Given the description of an element on the screen output the (x, y) to click on. 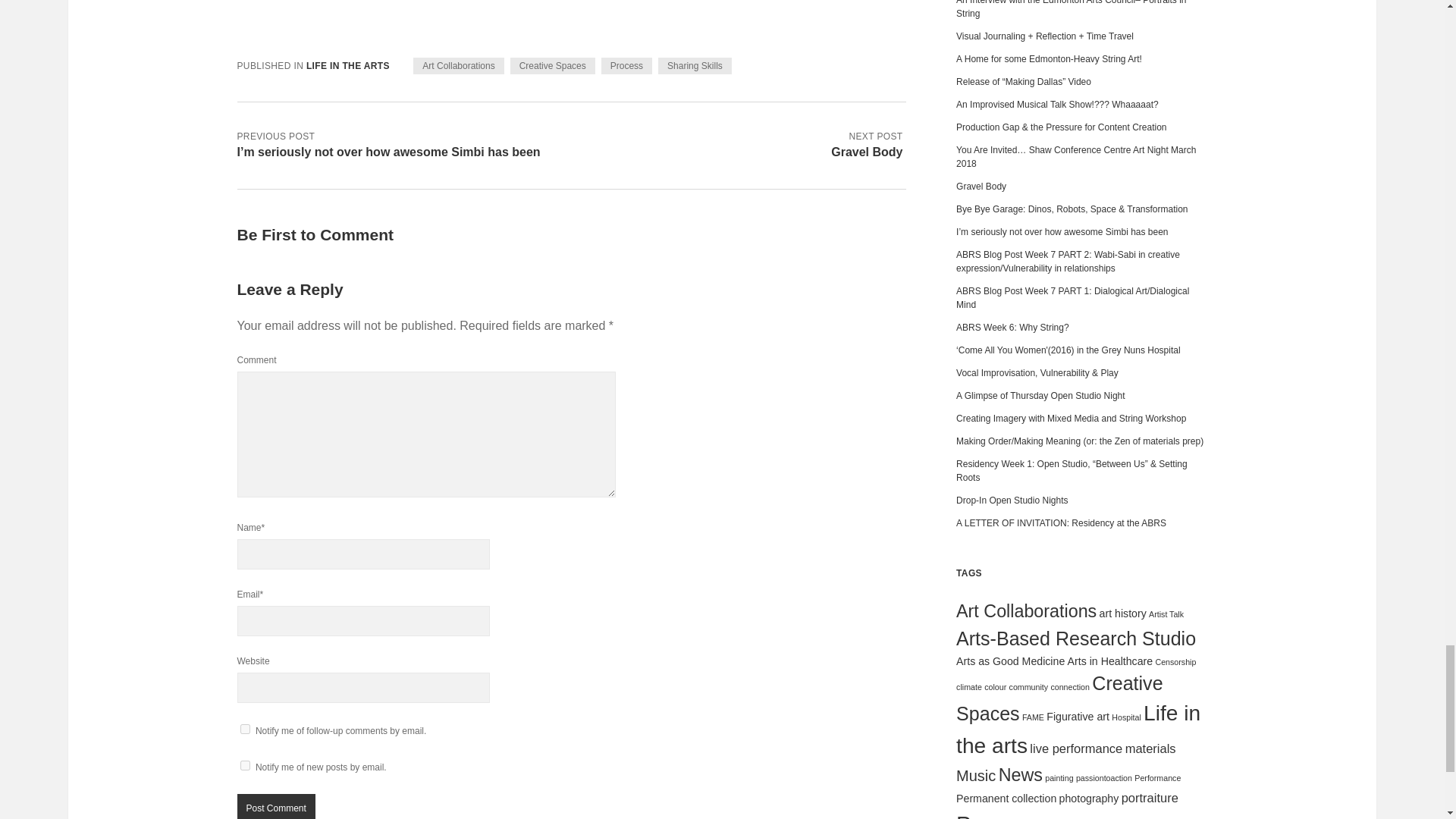
View all posts tagged Art Collaborations (458, 65)
View all posts tagged Sharing Skills (695, 65)
Process (626, 65)
subscribe (244, 765)
LIFE IN THE ARTS (347, 65)
View all posts tagged Process (626, 65)
Gravel Body (866, 151)
View all posts tagged Creative Spaces (553, 65)
Creative Spaces (553, 65)
Art Collaborations (458, 65)
Post Comment (274, 806)
View all posts in Life in the arts (347, 65)
subscribe (244, 728)
Sharing Skills (695, 65)
